Given the description of an element on the screen output the (x, y) to click on. 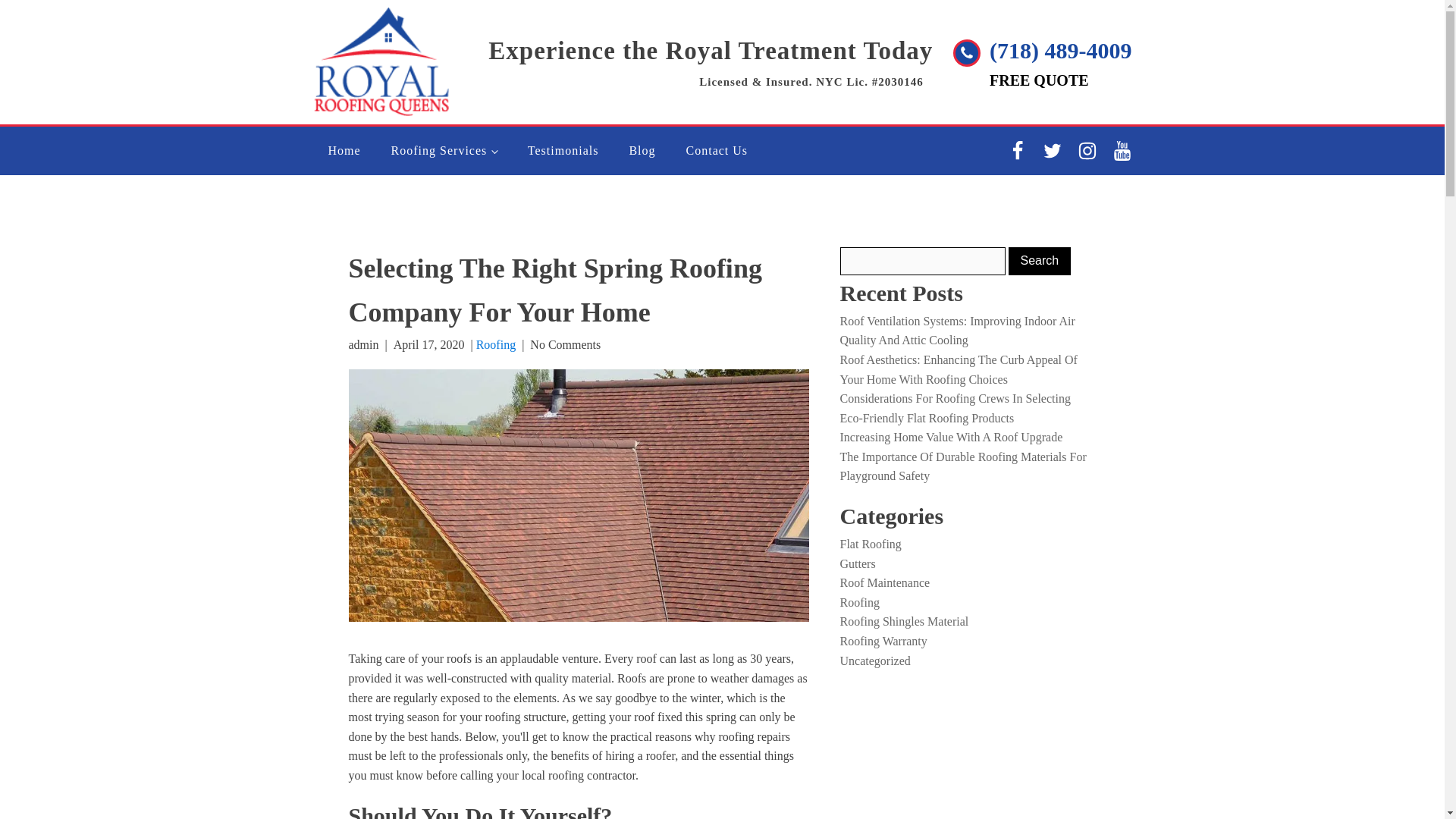
Gutters (858, 563)
Roofing (859, 602)
Search (1040, 260)
Increasing Home Value With A Roof Upgrade (951, 436)
Testimonials (563, 151)
Contact Us (716, 151)
Flat Roofing (870, 543)
Roofing Warranty (883, 640)
Roofing (495, 344)
Uncategorized (875, 660)
Roofing Shingles Material (904, 621)
